Given the description of an element on the screen output the (x, y) to click on. 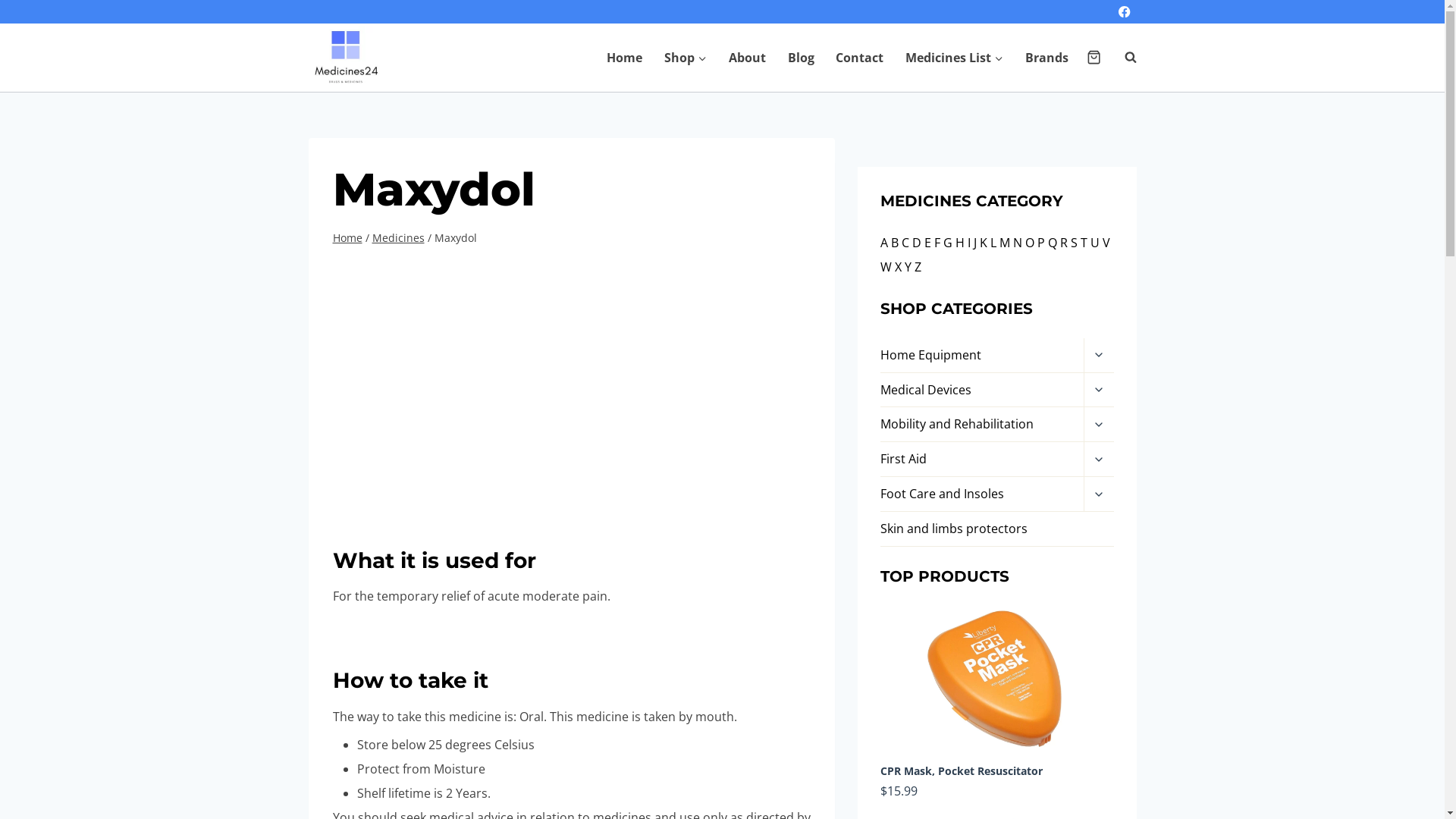
Expand child menu Element type: text (1098, 424)
F Element type: text (937, 242)
I Element type: text (968, 242)
Contact Element type: text (859, 57)
CPR Mask, Pocket Resuscitator Element type: text (996, 689)
Q Element type: text (1052, 242)
Expand child menu Element type: text (1098, 355)
Expand child menu Element type: text (1098, 390)
Medicines List Element type: text (954, 57)
C Element type: text (905, 242)
W Element type: text (885, 266)
Foot Care and Insoles Element type: text (981, 493)
Brands Element type: text (1046, 57)
L Element type: text (993, 242)
O Element type: text (1029, 242)
Expand child menu Element type: text (1098, 493)
J Element type: text (974, 242)
X Element type: text (897, 266)
D Element type: text (916, 242)
Home Element type: text (624, 57)
Skin and limbs protectors Element type: text (996, 528)
Z Element type: text (917, 266)
S Element type: text (1073, 242)
M Element type: text (1004, 242)
Blog Element type: text (800, 57)
Home Equipment Element type: text (981, 355)
Y Element type: text (907, 266)
H Element type: text (959, 242)
A Element type: text (884, 242)
Medical Devices Element type: text (981, 390)
B Element type: text (894, 242)
Shop Element type: text (685, 57)
V Element type: text (1106, 242)
T Element type: text (1083, 242)
About Element type: text (746, 57)
Mobility and Rehabilitation Element type: text (981, 424)
First Aid Element type: text (981, 459)
R Element type: text (1063, 242)
Expand child menu Element type: text (1098, 459)
Home Element type: text (346, 237)
K Element type: text (983, 242)
Medicines Element type: text (397, 237)
U Element type: text (1094, 242)
P Element type: text (1040, 242)
E Element type: text (927, 242)
G Element type: text (947, 242)
N Element type: text (1017, 242)
Advertisement Element type: hover (571, 378)
